Given the description of an element on the screen output the (x, y) to click on. 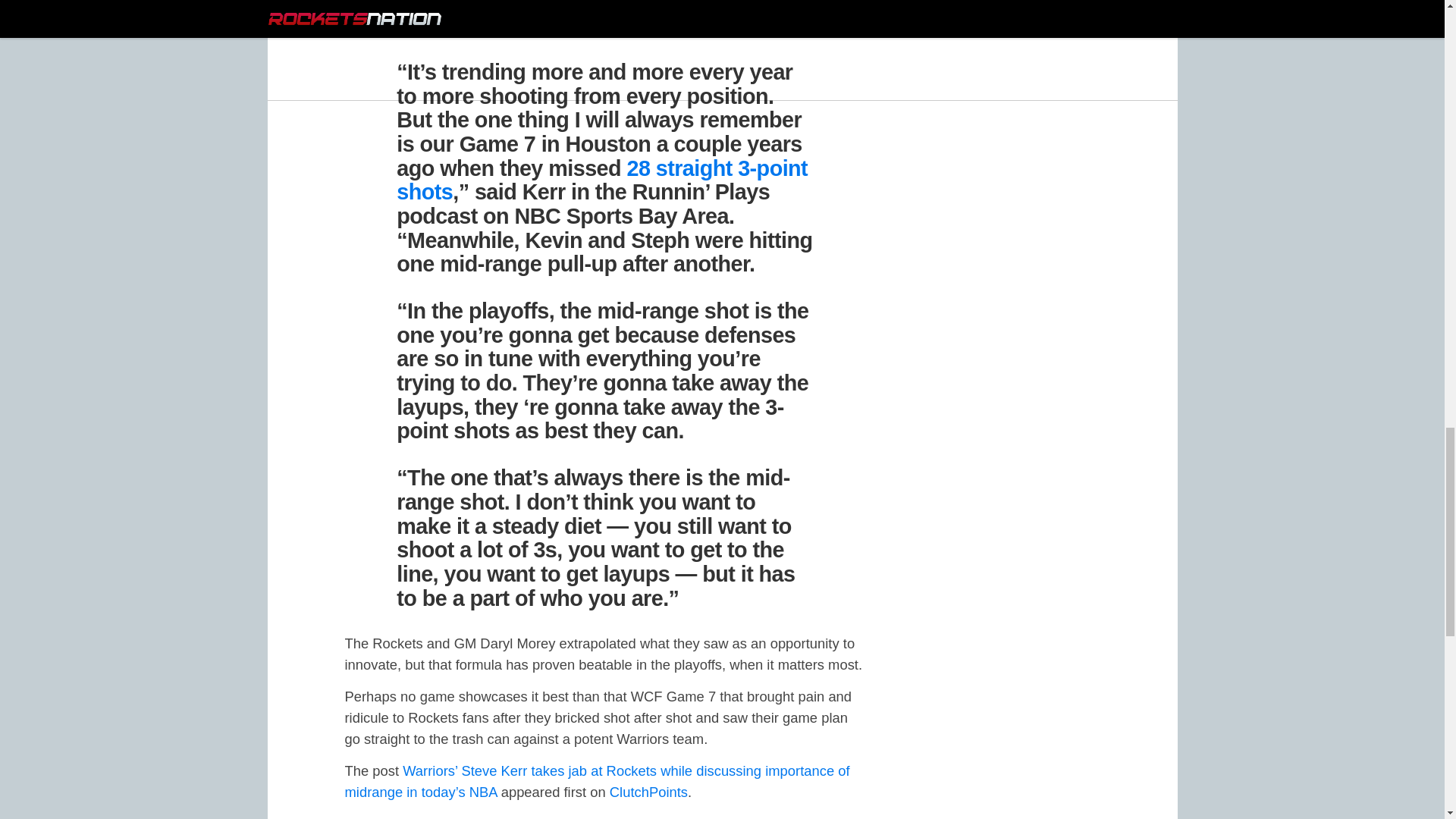
Drew Shiller of NBC Sports (514, 26)
28 straight 3-point shots (602, 180)
ClutchPoints (648, 791)
